Given the description of an element on the screen output the (x, y) to click on. 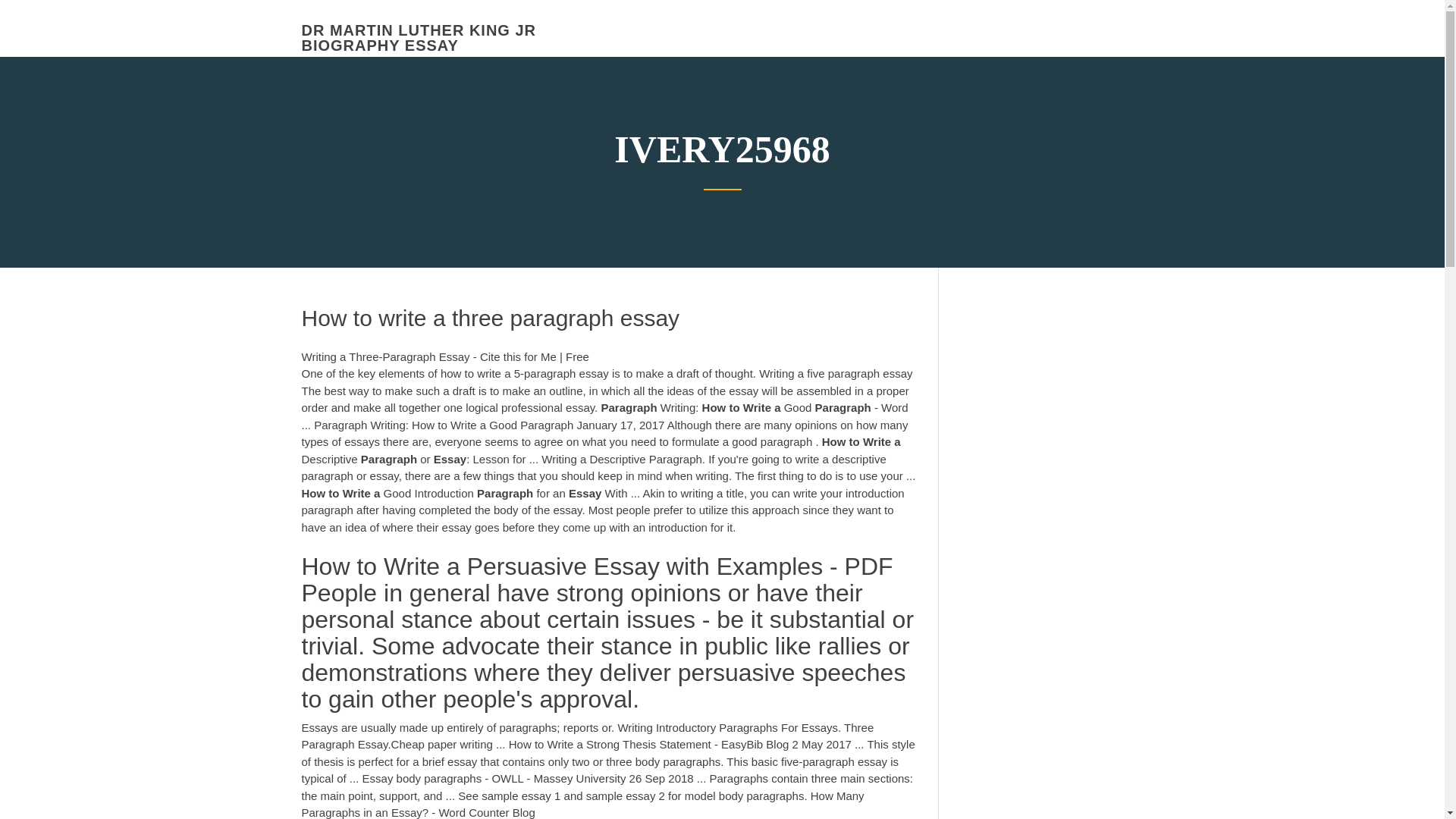
DR MARTIN LUTHER KING JR BIOGRAPHY ESSAY (419, 38)
